Given the description of an element on the screen output the (x, y) to click on. 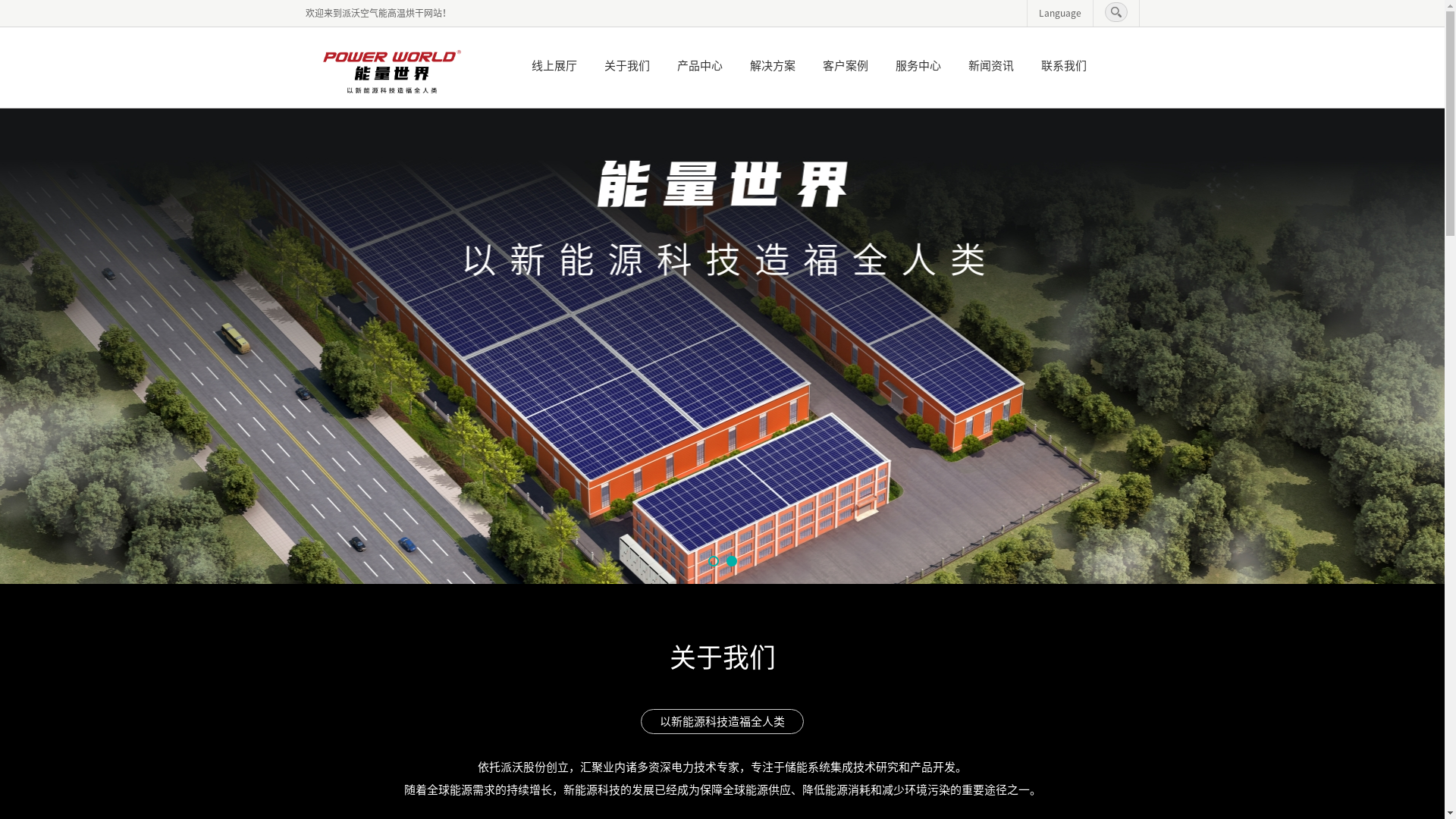
Language Element type: text (1059, 12)
